Given the description of an element on the screen output the (x, y) to click on. 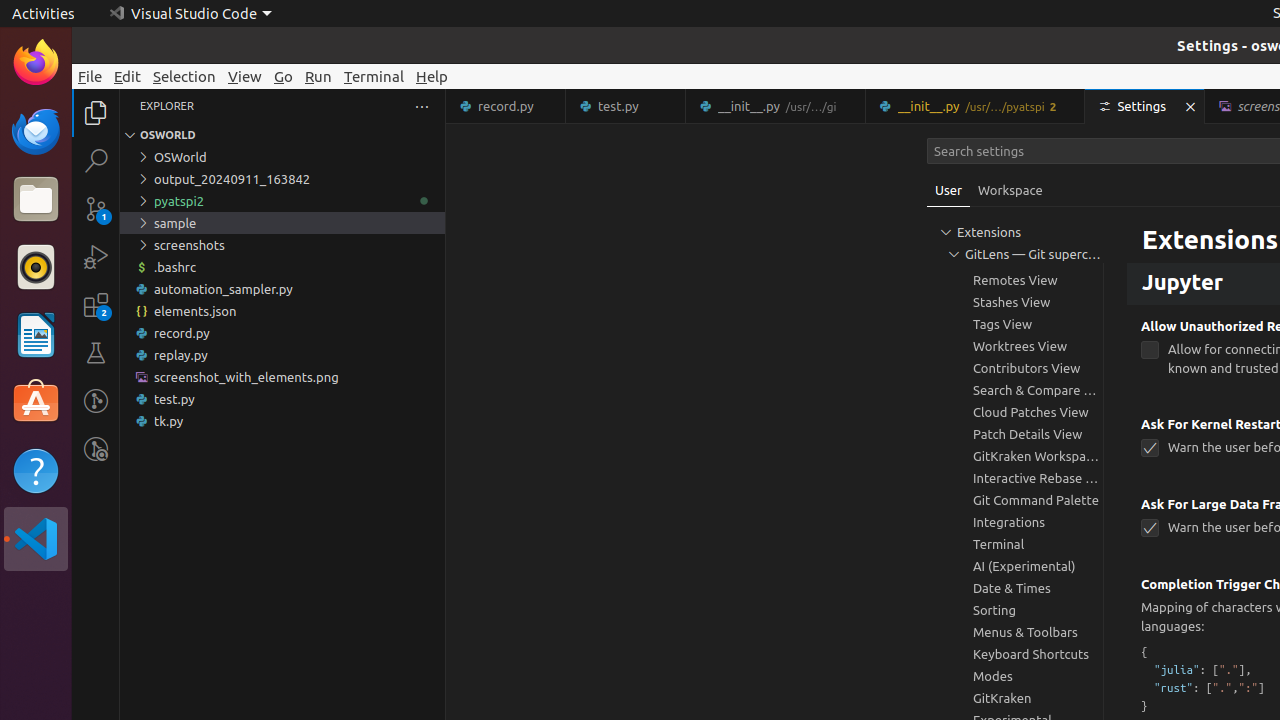
Terminal Element type: push-button (374, 76)
Integrations, group Element type: tree-item (1015, 522)
pyatspi2 Element type: tree-item (282, 201)
AI (Experimental), group Element type: tree-item (1015, 566)
GitKraken, group Element type: tree-item (1015, 698)
